Given the description of an element on the screen output the (x, y) to click on. 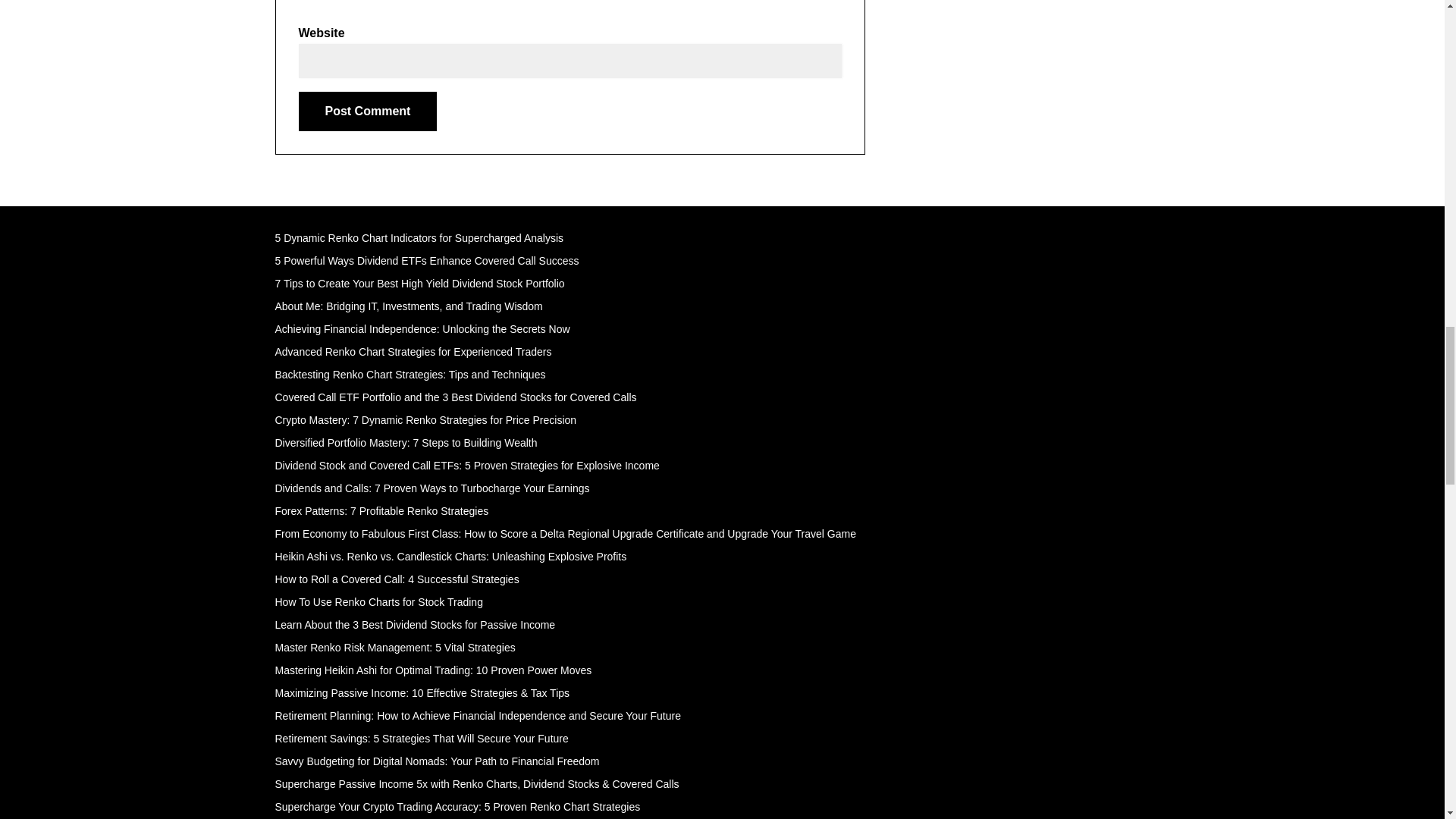
Post Comment (368, 111)
Post Comment (368, 111)
